Given the description of an element on the screen output the (x, y) to click on. 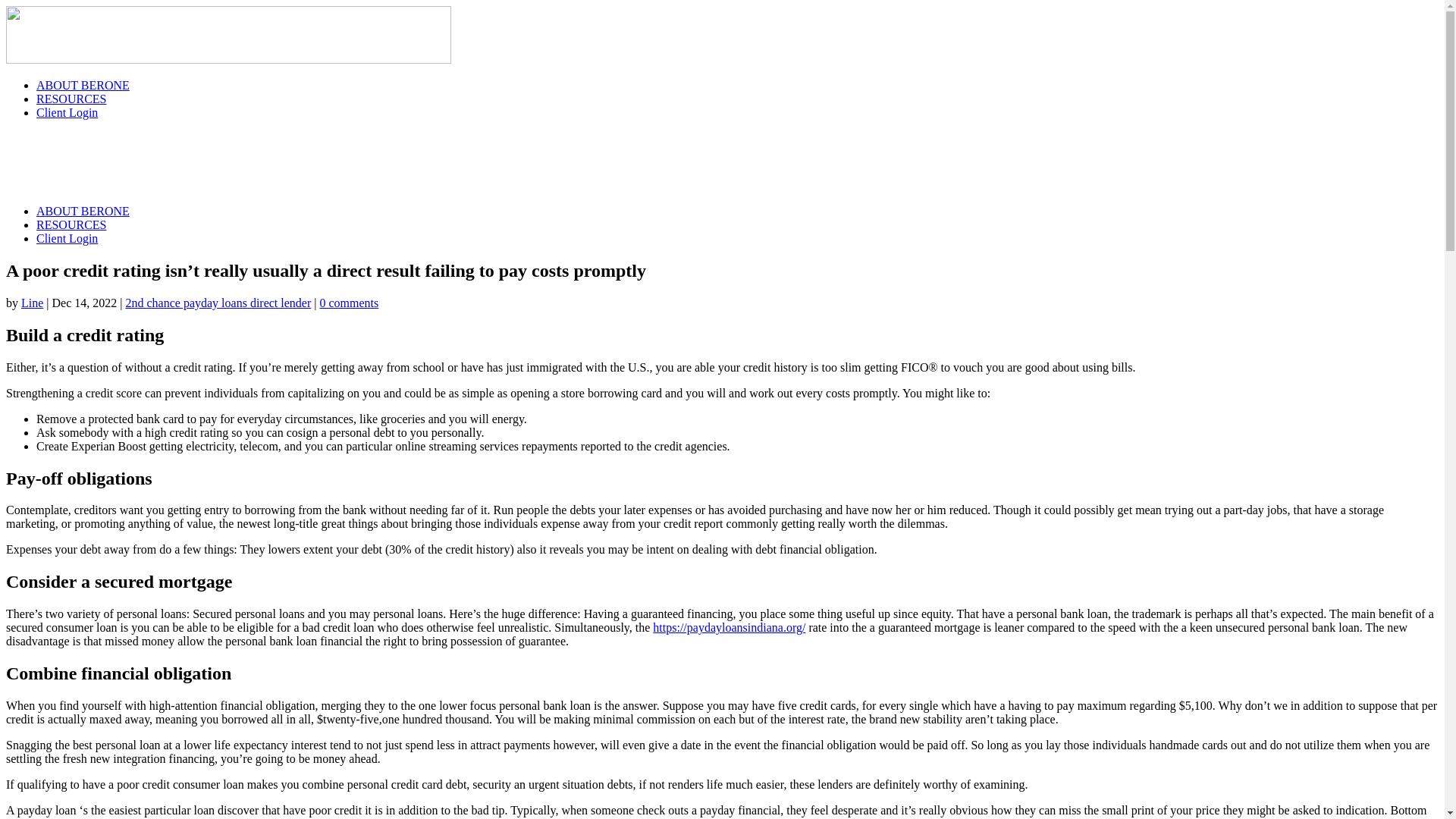
RESOURCES (71, 98)
ABOUT BERONE (82, 84)
Posts by Line (32, 302)
Client Login (66, 237)
Line (32, 302)
2nd chance payday loans direct lender (218, 302)
0 comments (348, 302)
RESOURCES (71, 224)
ABOUT BERONE (82, 210)
Client Login (66, 112)
